Given the description of an element on the screen output the (x, y) to click on. 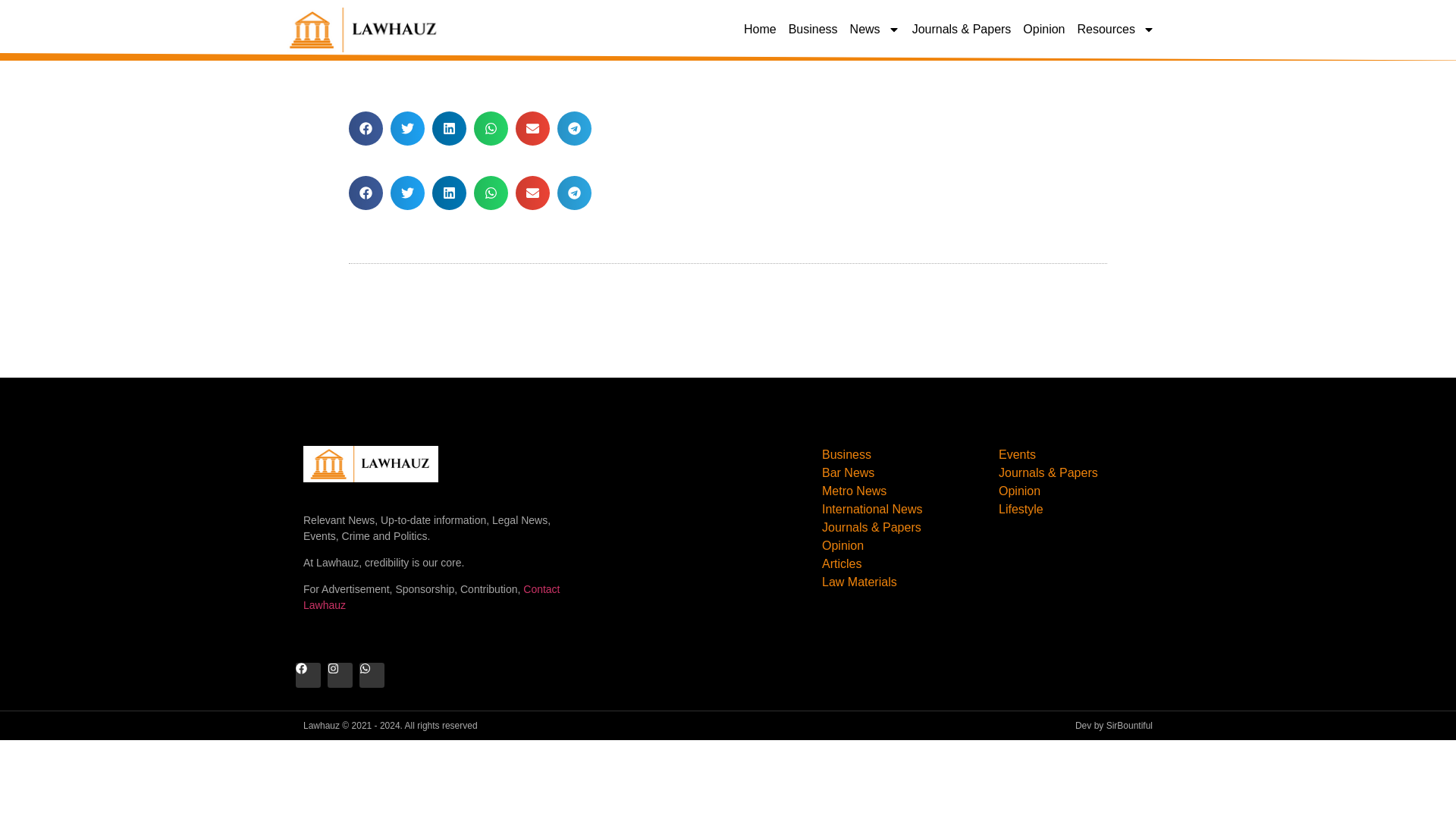
Business (813, 29)
Opinion (1043, 29)
Resources (1115, 29)
News (874, 29)
Home (759, 29)
